Given the description of an element on the screen output the (x, y) to click on. 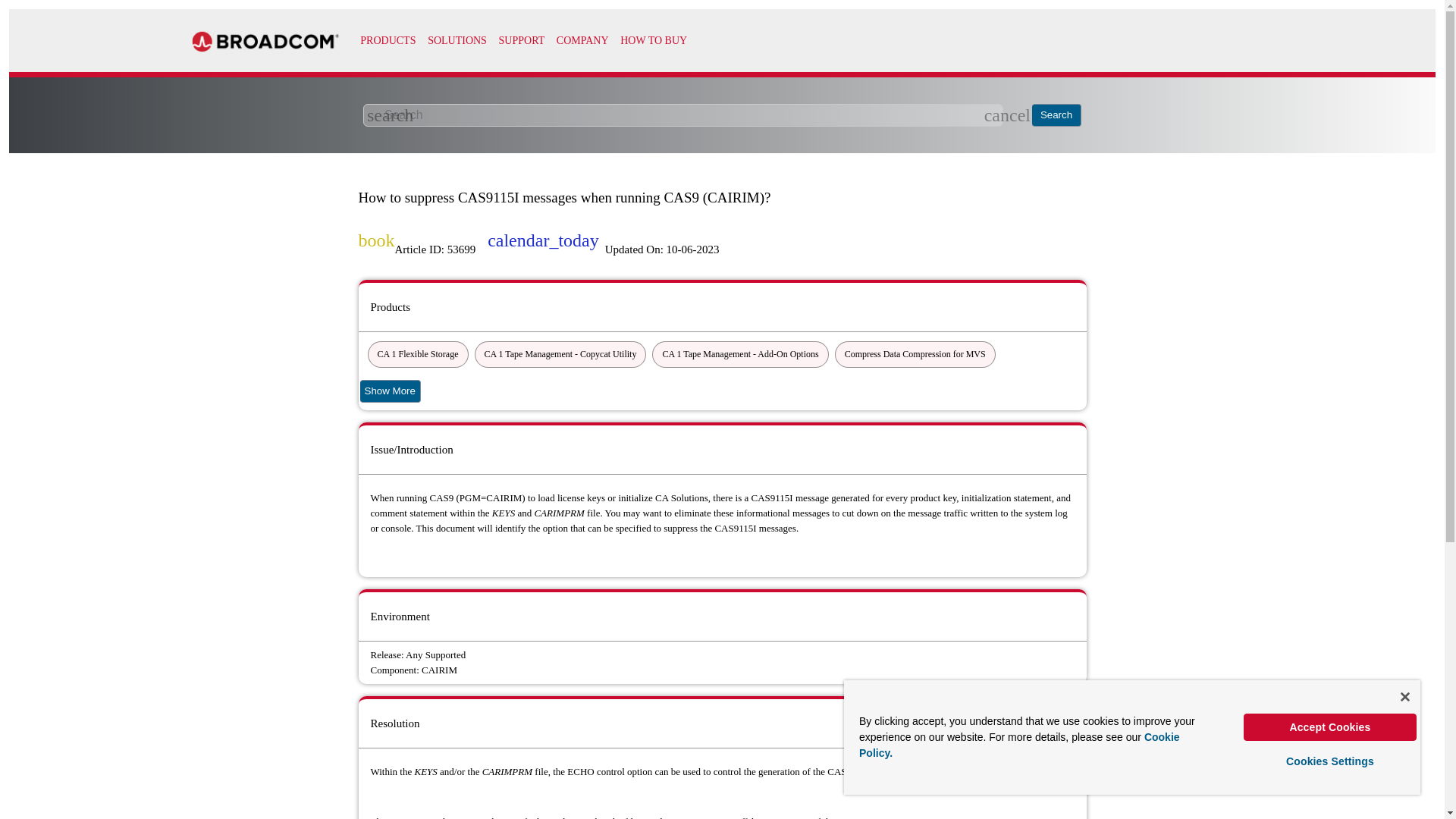
Show More (389, 391)
Cookie Policy. (1019, 745)
Search (1056, 115)
Cookies Settings (1329, 760)
Accept Cookies (1329, 727)
